Given the description of an element on the screen output the (x, y) to click on. 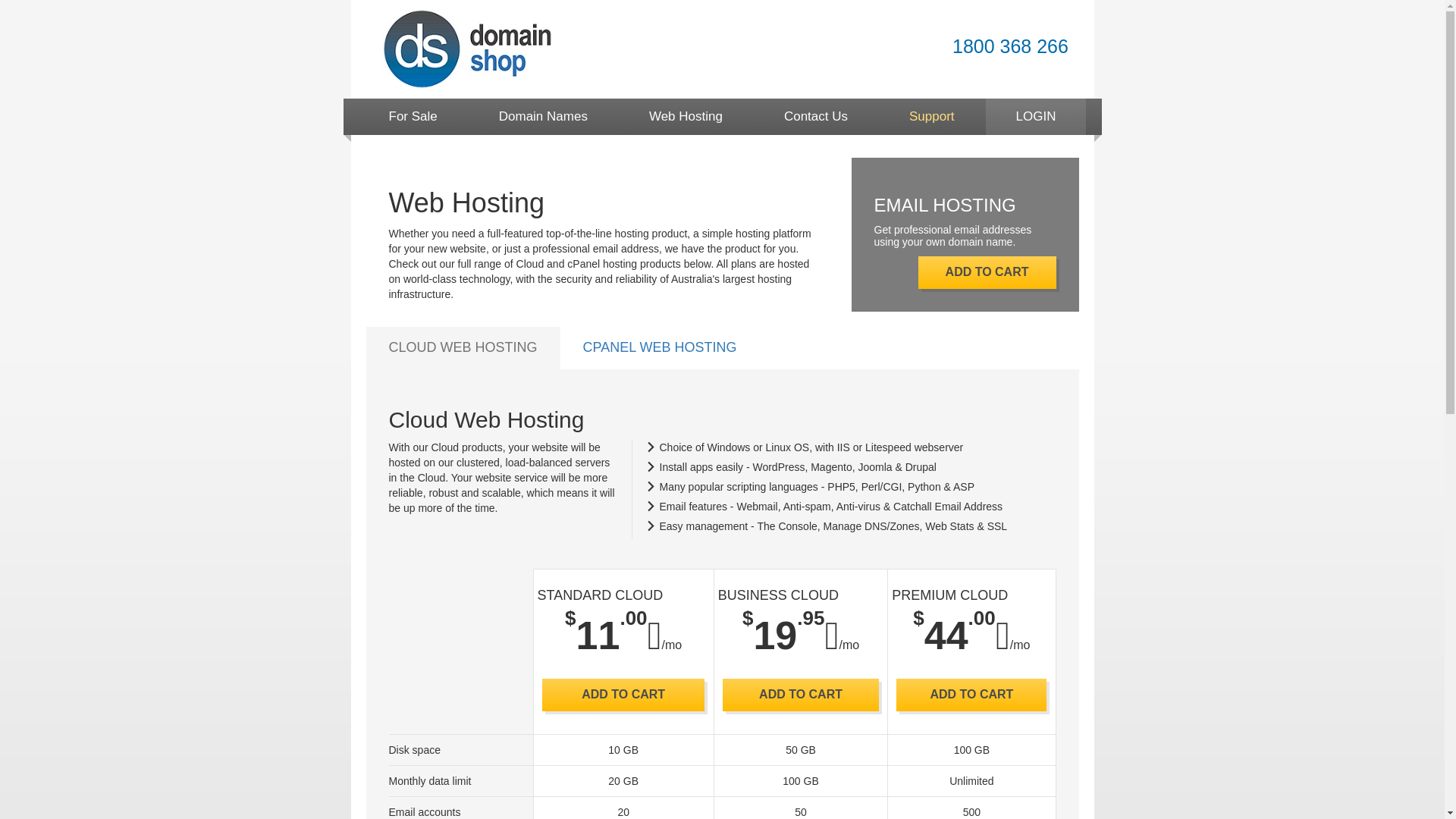
ADD TO CART Element type: text (971, 694)
ADD TO CART Element type: text (987, 272)
Support Element type: text (931, 116)
CPANEL WEB HOSTING Element type: text (660, 346)
LOGIN Element type: text (1035, 116)
CLOUD WEB HOSTING Element type: text (462, 346)
For Sale Element type: text (412, 116)
Contact Us Element type: text (815, 116)
Domain Names Element type: text (543, 116)
ADD TO CART Element type: text (800, 694)
Web Hosting Element type: text (685, 116)
ADD TO CART Element type: text (623, 694)
